Given the description of an element on the screen output the (x, y) to click on. 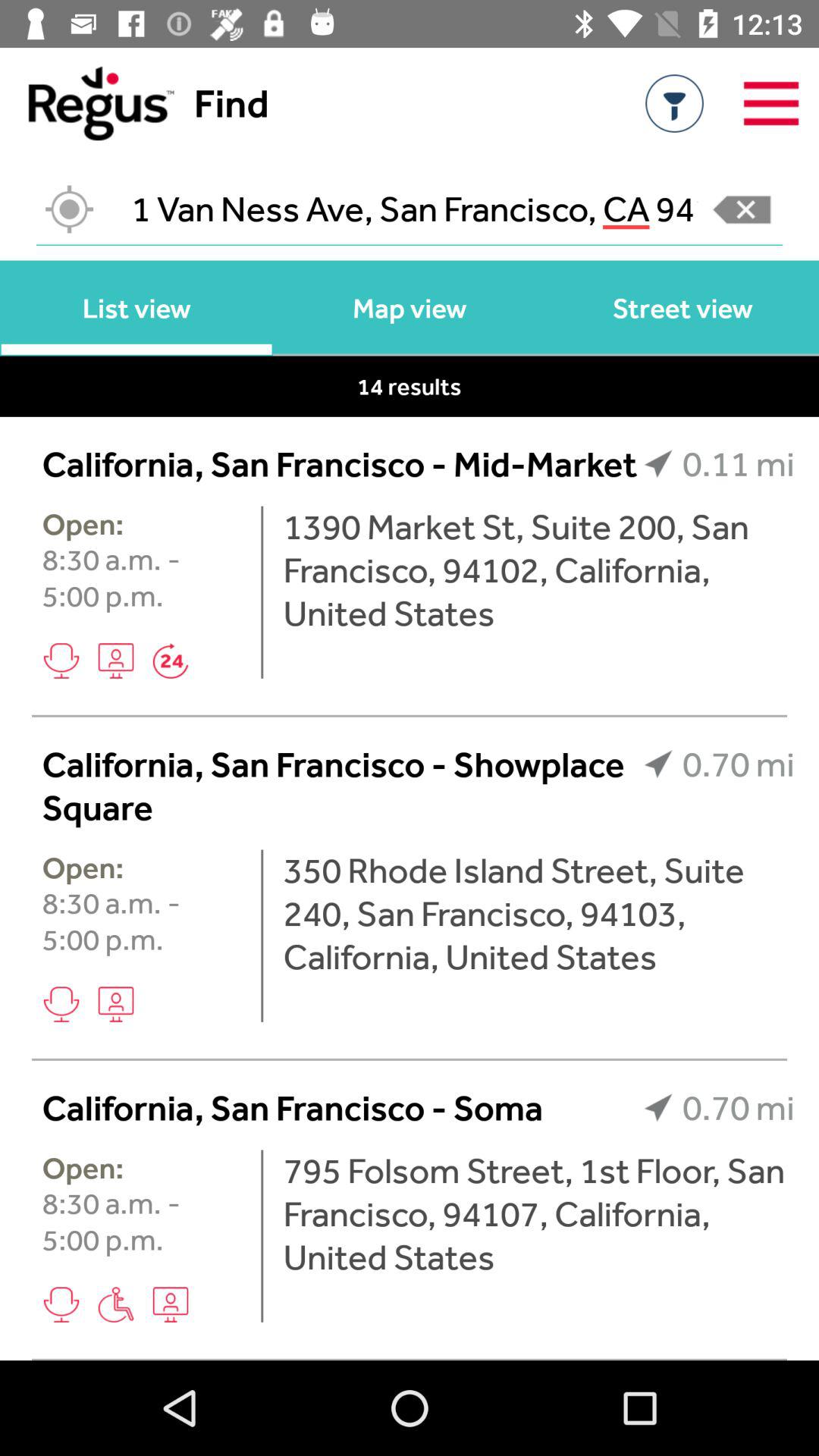
click item next to the 8 30 a (262, 935)
